Given the description of an element on the screen output the (x, y) to click on. 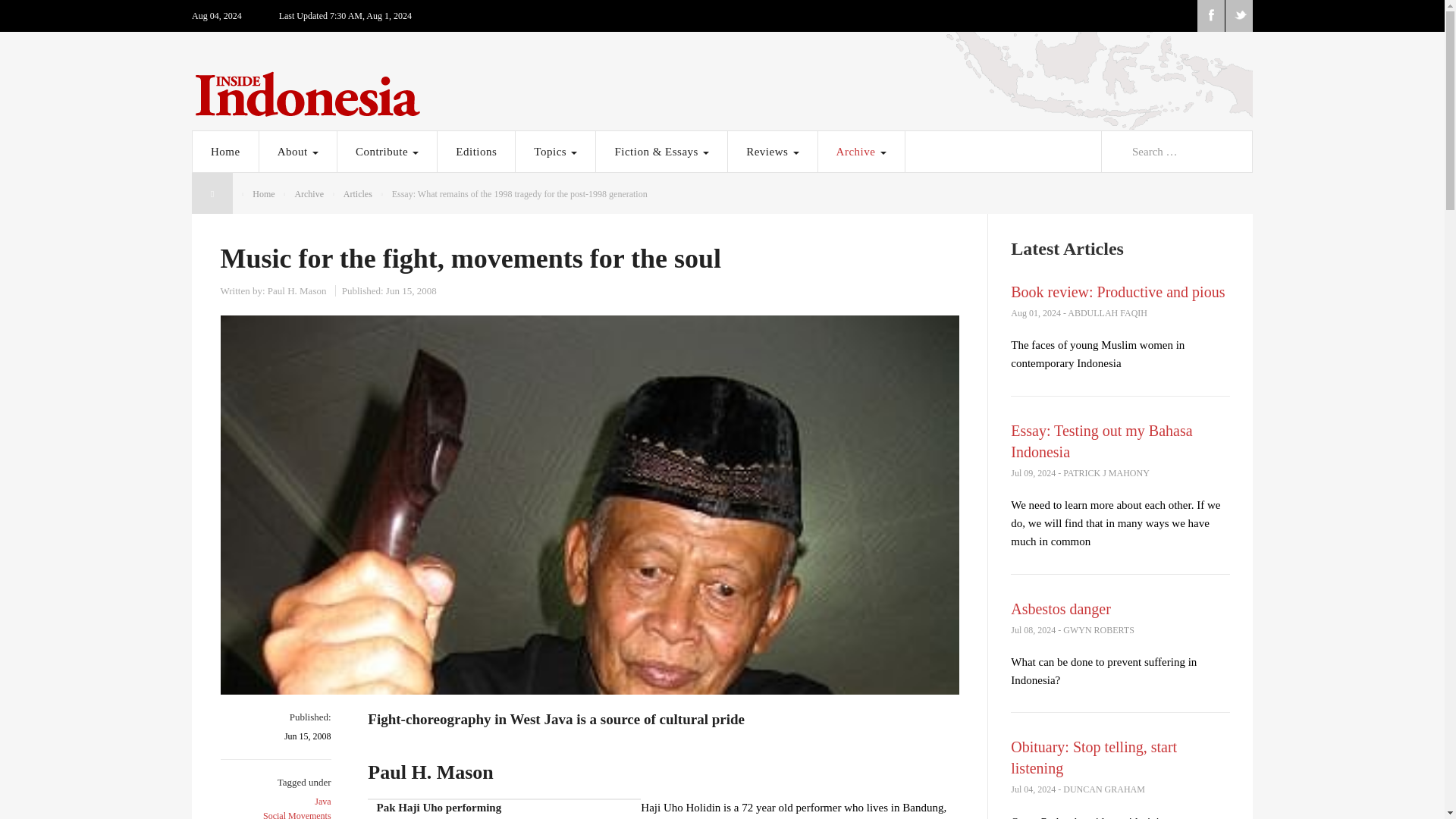
Essay: Testing out my Bahasa Indonesia (1101, 441)
About (297, 151)
Book review: Productive and pious (1117, 291)
Inside Indonesia (722, 90)
Asbestos danger (1060, 608)
Home (225, 151)
Obituary: Stop telling, start listening (1093, 757)
